Given the description of an element on the screen output the (x, y) to click on. 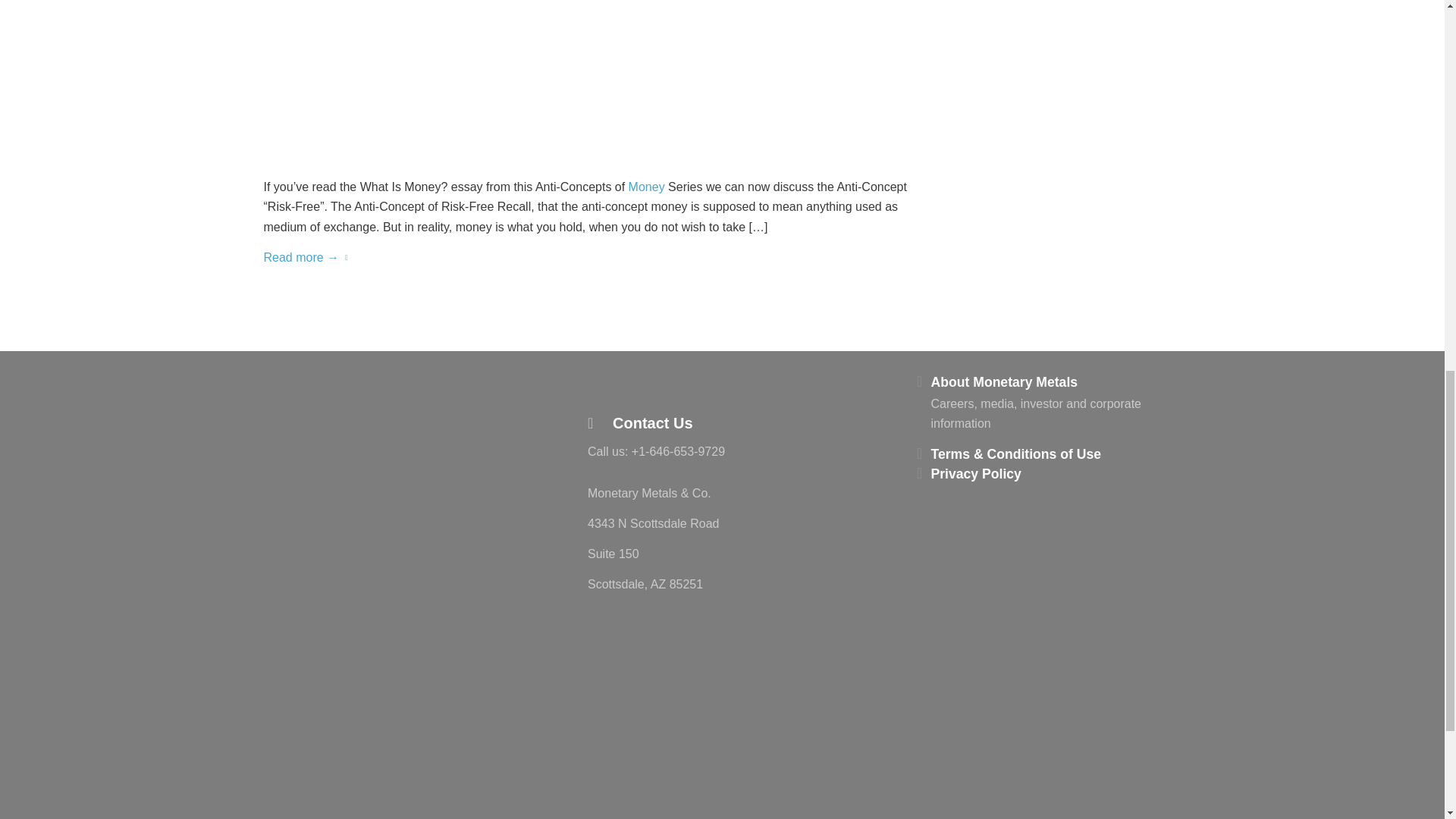
The Anti-Concepts of Money: Risk-Free (598, 76)
Link opens in a new window (599, 393)
Link opens in a new window (627, 393)
